Given the description of an element on the screen output the (x, y) to click on. 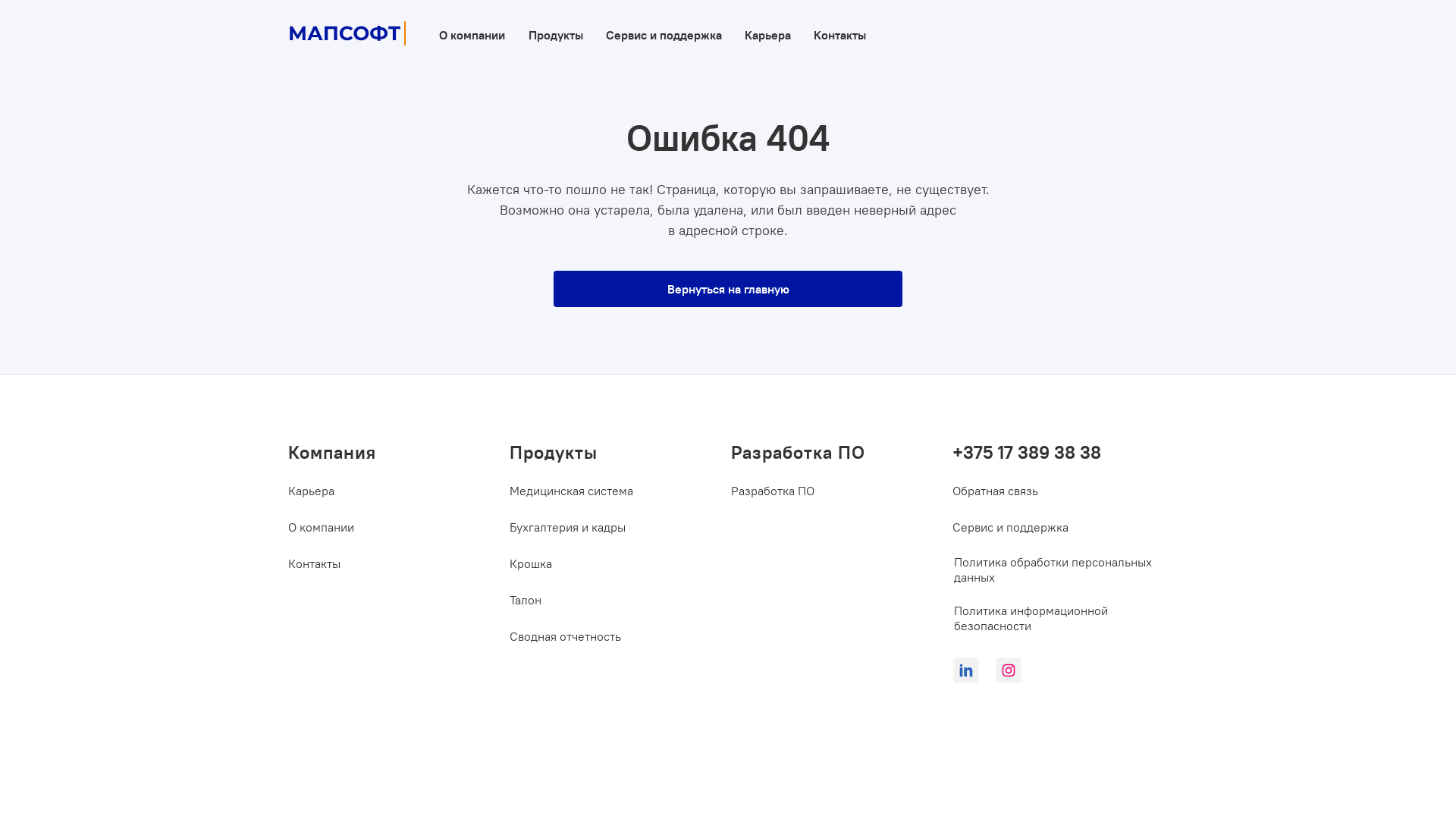
+375 17 389 38 38 Element type: text (1050, 451)
